Given the description of an element on the screen output the (x, y) to click on. 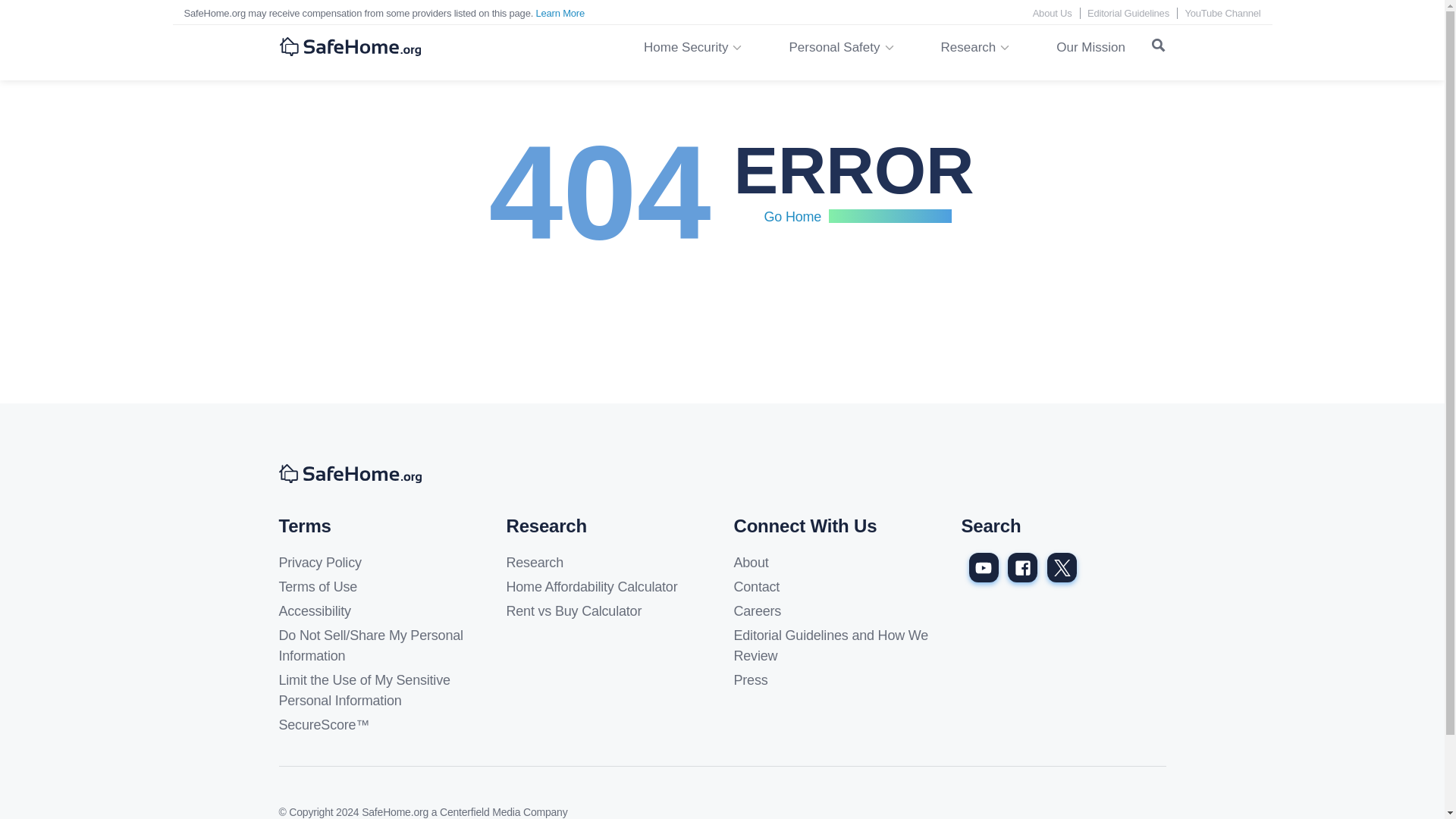
Home Security (685, 47)
About Us (1051, 12)
YouTube Channel (1222, 12)
Learn More (559, 12)
Editorial Guidelines (1128, 12)
Personal Safety (834, 47)
